Given the description of an element on the screen output the (x, y) to click on. 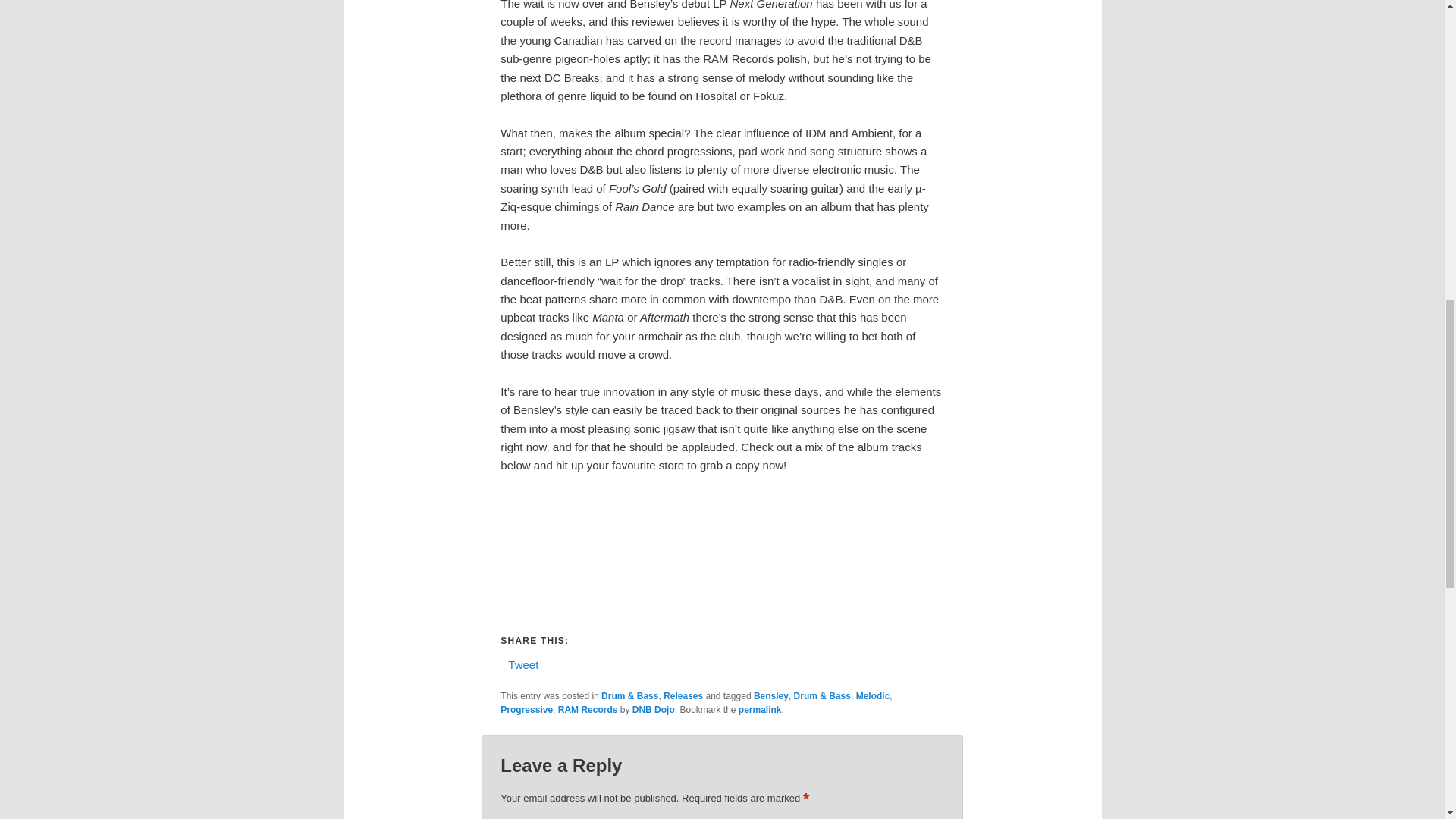
Progressive (526, 709)
DNB Dojo (653, 709)
Melodic (872, 696)
Releases (683, 696)
permalink (759, 709)
Tweet (523, 664)
RAM Records (587, 709)
Bensley (771, 696)
